Given the description of an element on the screen output the (x, y) to click on. 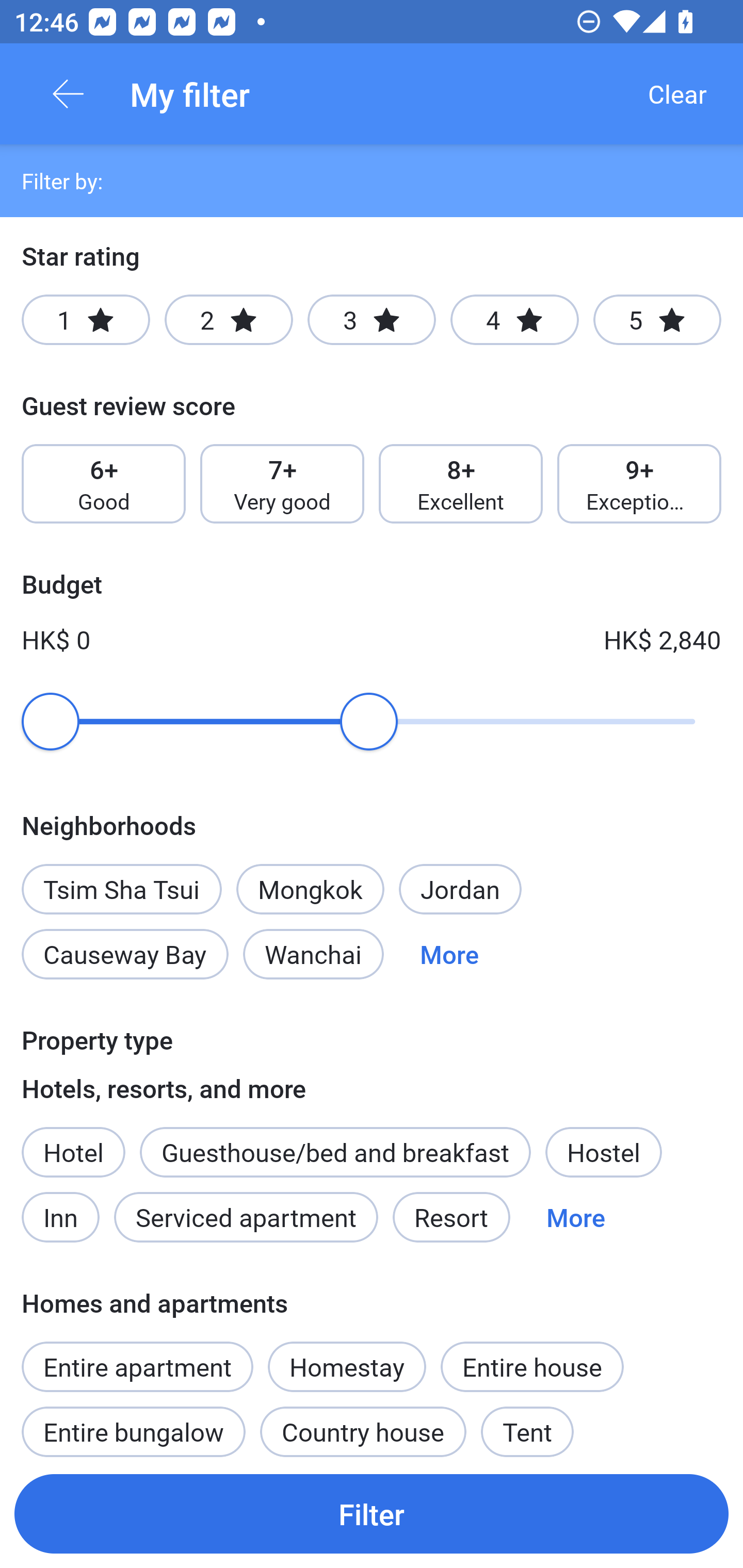
Clear (676, 93)
1 (85, 319)
2 (228, 319)
3 (371, 319)
4 (514, 319)
5 (657, 319)
6+ Good (103, 483)
7+ Very good (281, 483)
8+ Excellent (460, 483)
9+ Exceptional (639, 483)
Tsim Sha Tsui (121, 878)
Mongkok (310, 888)
Jordan (459, 888)
Causeway Bay (124, 954)
Wanchai (313, 954)
More (449, 954)
Hotel (73, 1151)
Guesthouse/bed and breakfast (335, 1151)
Hostel (603, 1151)
Inn (62, 1217)
Serviced apartment (245, 1217)
Resort (451, 1217)
More (575, 1217)
Entire apartment (137, 1366)
Homestay (346, 1356)
Entire house (532, 1366)
Entire bungalow (133, 1424)
Country house (363, 1424)
Tent (526, 1424)
Filter (371, 1513)
